Given the description of an element on the screen output the (x, y) to click on. 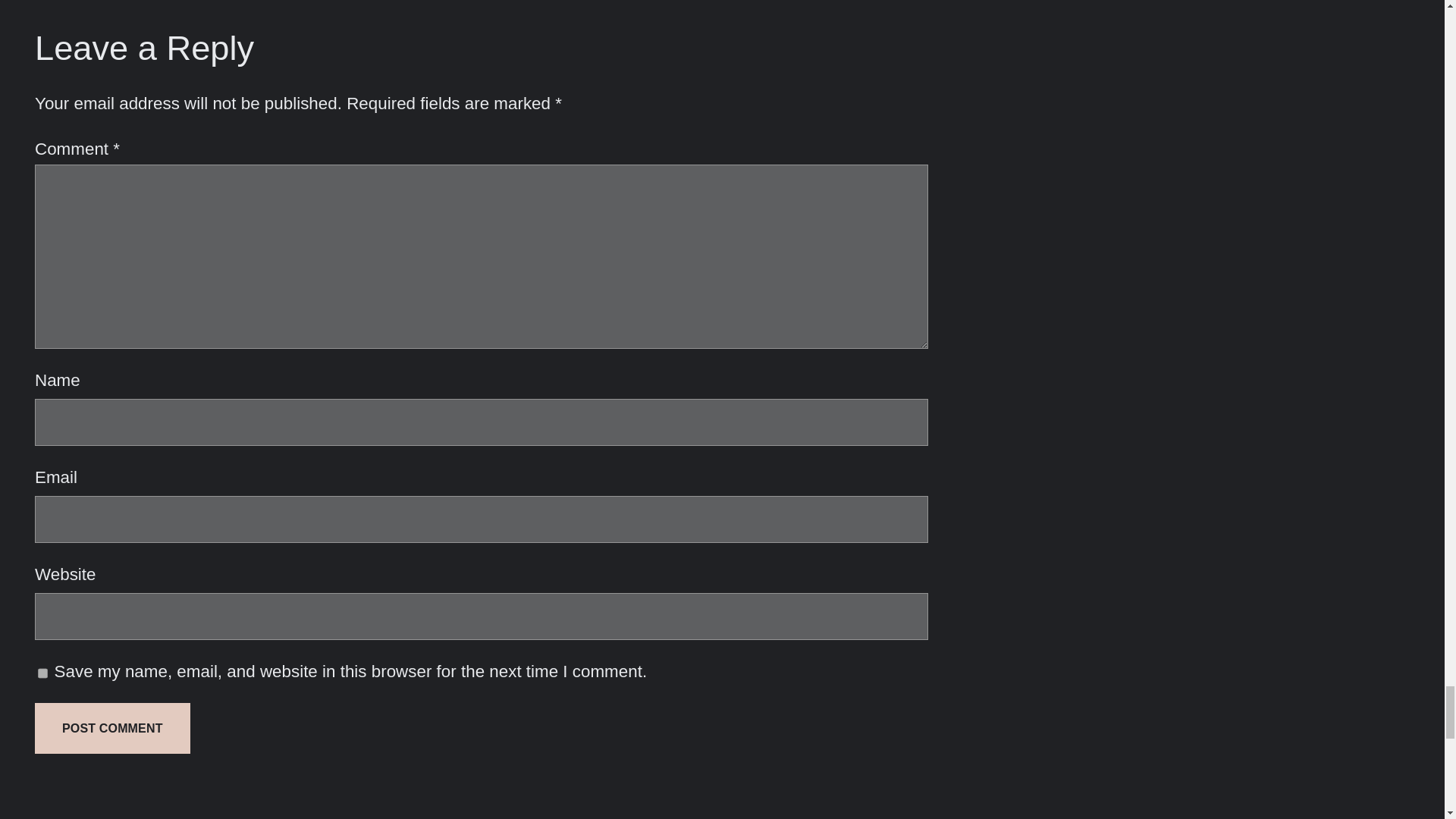
yes (42, 672)
Post Comment (112, 727)
Post Comment (112, 727)
